Given the description of an element on the screen output the (x, y) to click on. 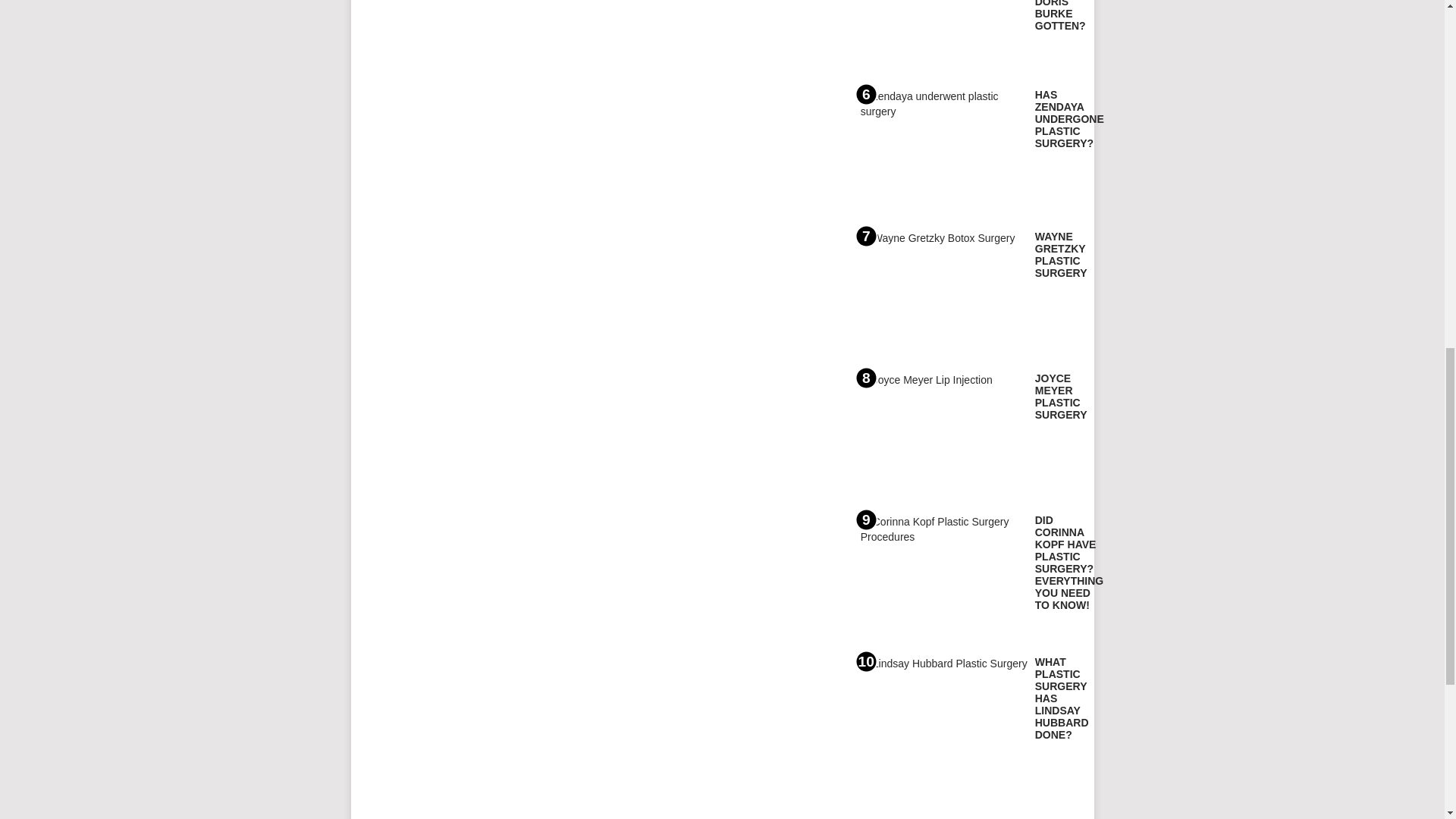
10 (943, 717)
6 (943, 149)
JOYCE MEYER PLASTIC SURGERY (1061, 396)
7 (943, 291)
HAS ZENDAYA UNDERGONE PLASTIC SURGERY? (1069, 118)
8 (943, 433)
WAYNE GRETZKY PLASTIC SURGERY (1061, 254)
9 (943, 575)
WHAT PLASTIC SURGERY HAS DORIS BURKE GOTTEN? (1060, 15)
5 (943, 34)
